Given the description of an element on the screen output the (x, y) to click on. 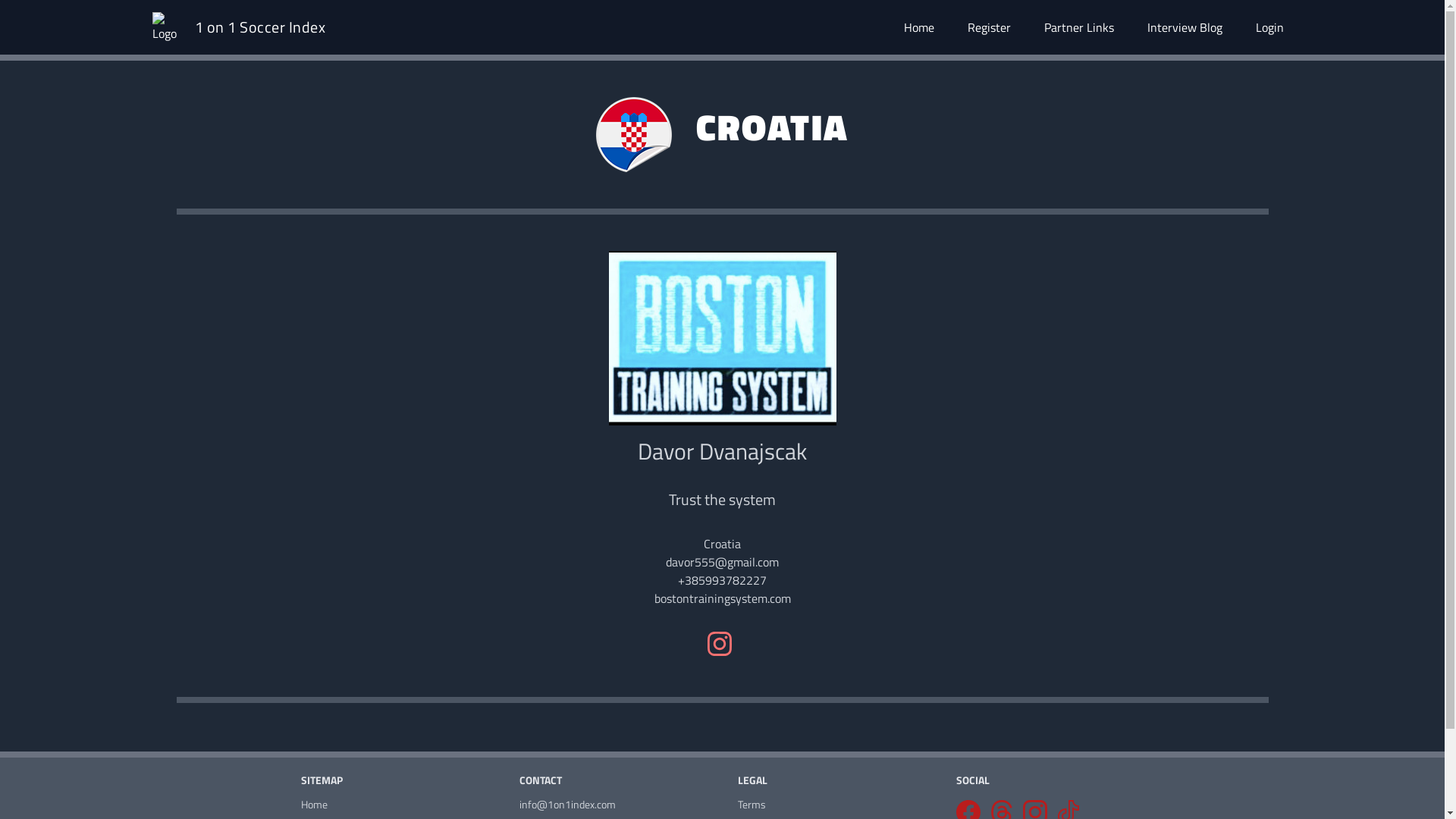
Croatia Element type: text (721, 543)
info@1on1index.com Element type: text (612, 804)
Login Element type: text (1269, 27)
bostontrainingsystem.com Element type: text (721, 598)
+385993782227 Element type: text (721, 580)
Interview Blog Element type: text (1183, 27)
Partner Links Element type: text (1078, 27)
Home Element type: text (394, 804)
davor555@gmail.com Element type: text (721, 561)
Home Element type: text (918, 27)
Register Element type: text (988, 27)
Davor Dvanajscak Element type: text (721, 450)
1 on 1 Soccer Index Element type: text (259, 26)
Terms Element type: text (831, 804)
